Given the description of an element on the screen output the (x, y) to click on. 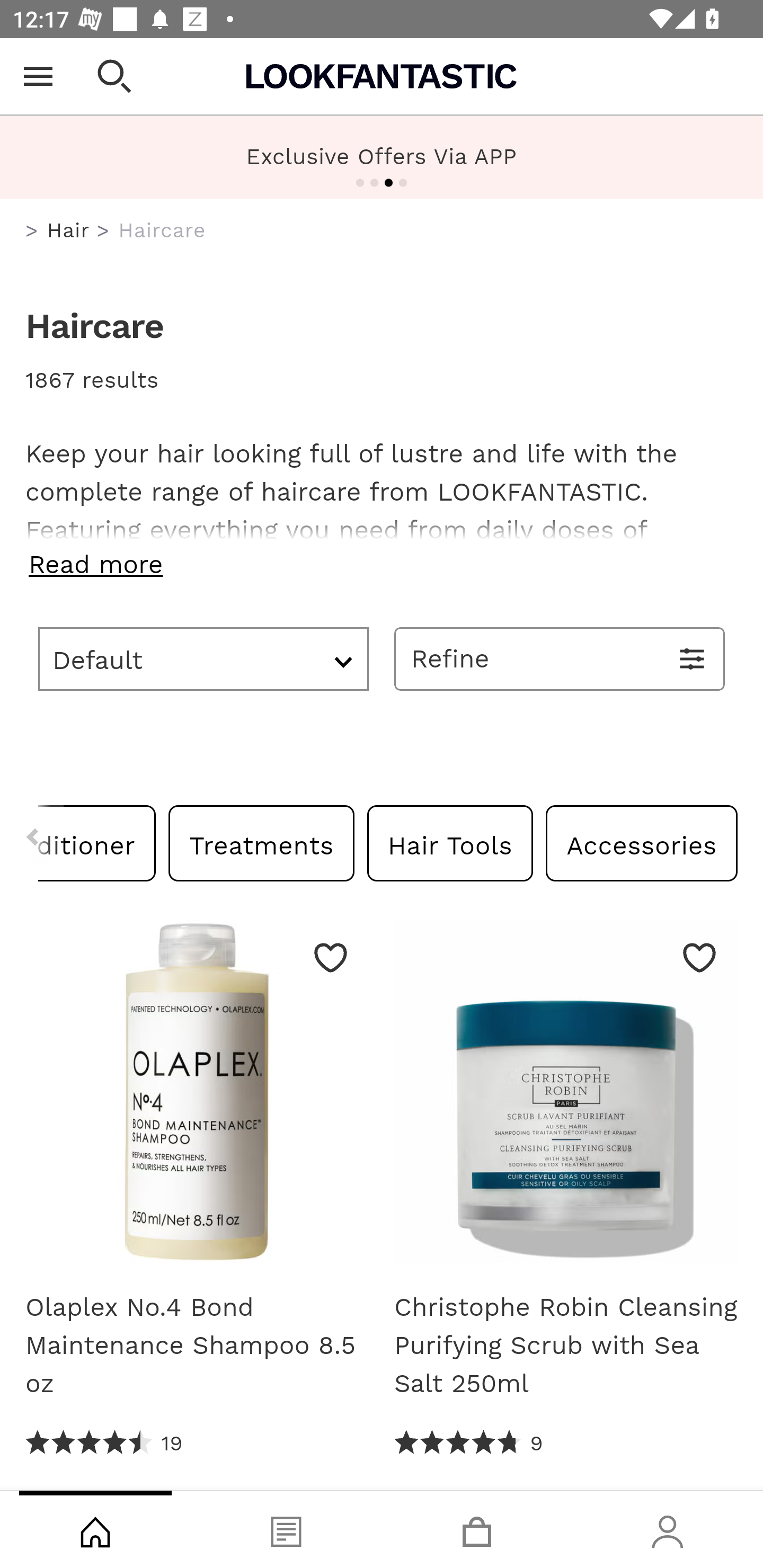
Open Menu (38, 75)
Open search (114, 75)
Lookfantastic USA (381, 75)
us.lookfantastic (32, 230)
Hair (67, 230)
Read more (381, 564)
Default (203, 658)
Refine (559, 658)
Shop Conditioner (97, 842)
Shop Treatments (261, 842)
Shop Hair Tools (449, 842)
Shop Accessories (641, 842)
Olaplex No.4 Bond Maintenance Shampoo 8.5 oz (196, 1097)
Save to Wishlist (330, 957)
Save to Wishlist (698, 957)
Olaplex No.4 Bond Maintenance Shampoo 8.5 oz (196, 1344)
4.53 Stars 19 Reviews (104, 1442)
4.78 Stars 9 Reviews (468, 1442)
Shop, tab, 1 of 4 (95, 1529)
Blog, tab, 2 of 4 (285, 1529)
Basket, tab, 3 of 4 (476, 1529)
Account, tab, 4 of 4 (667, 1529)
